Given the description of an element on the screen output the (x, y) to click on. 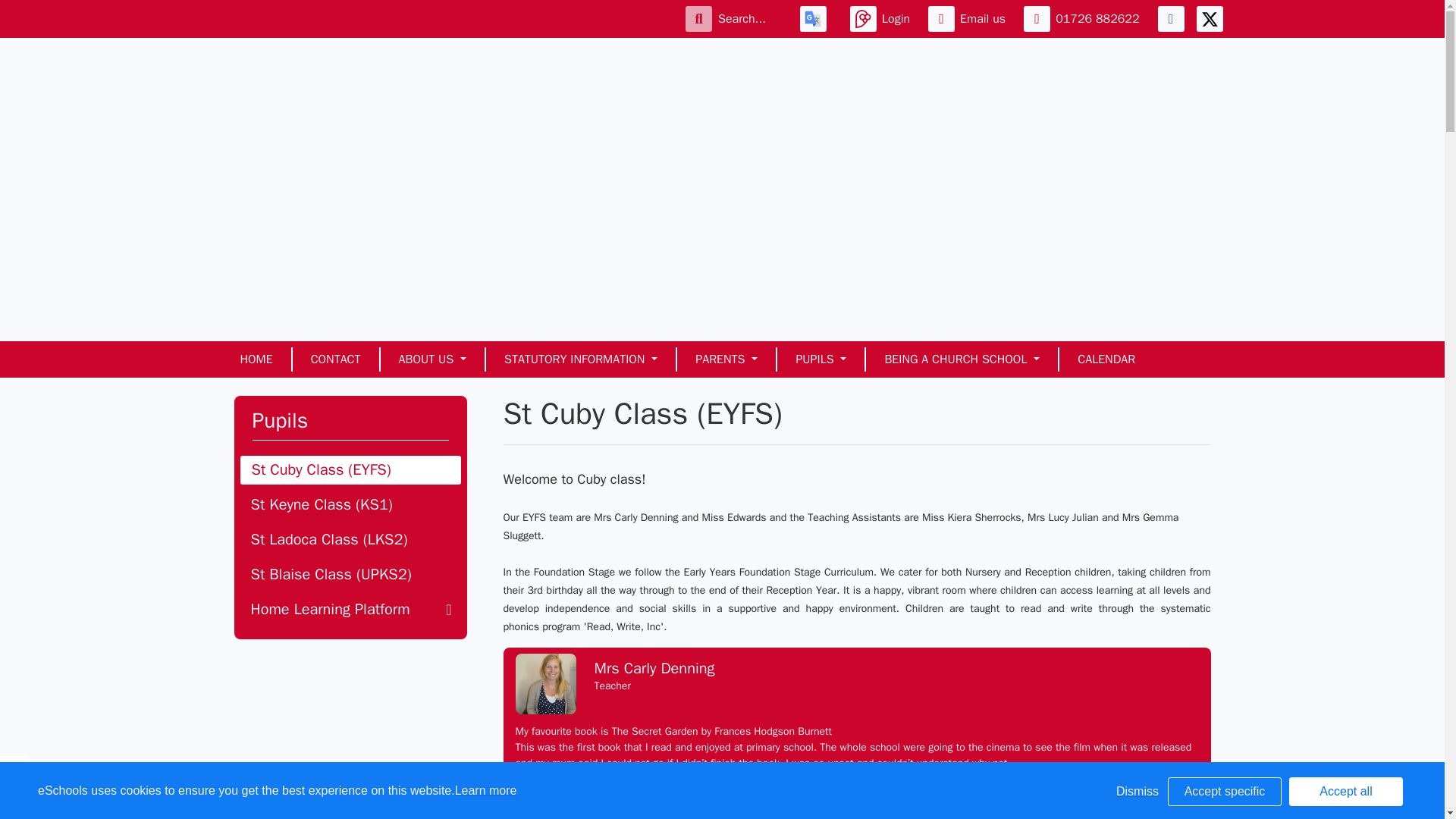
Email us (969, 18)
Login (882, 18)
01726 882622 (1083, 18)
